Given the description of an element on the screen output the (x, y) to click on. 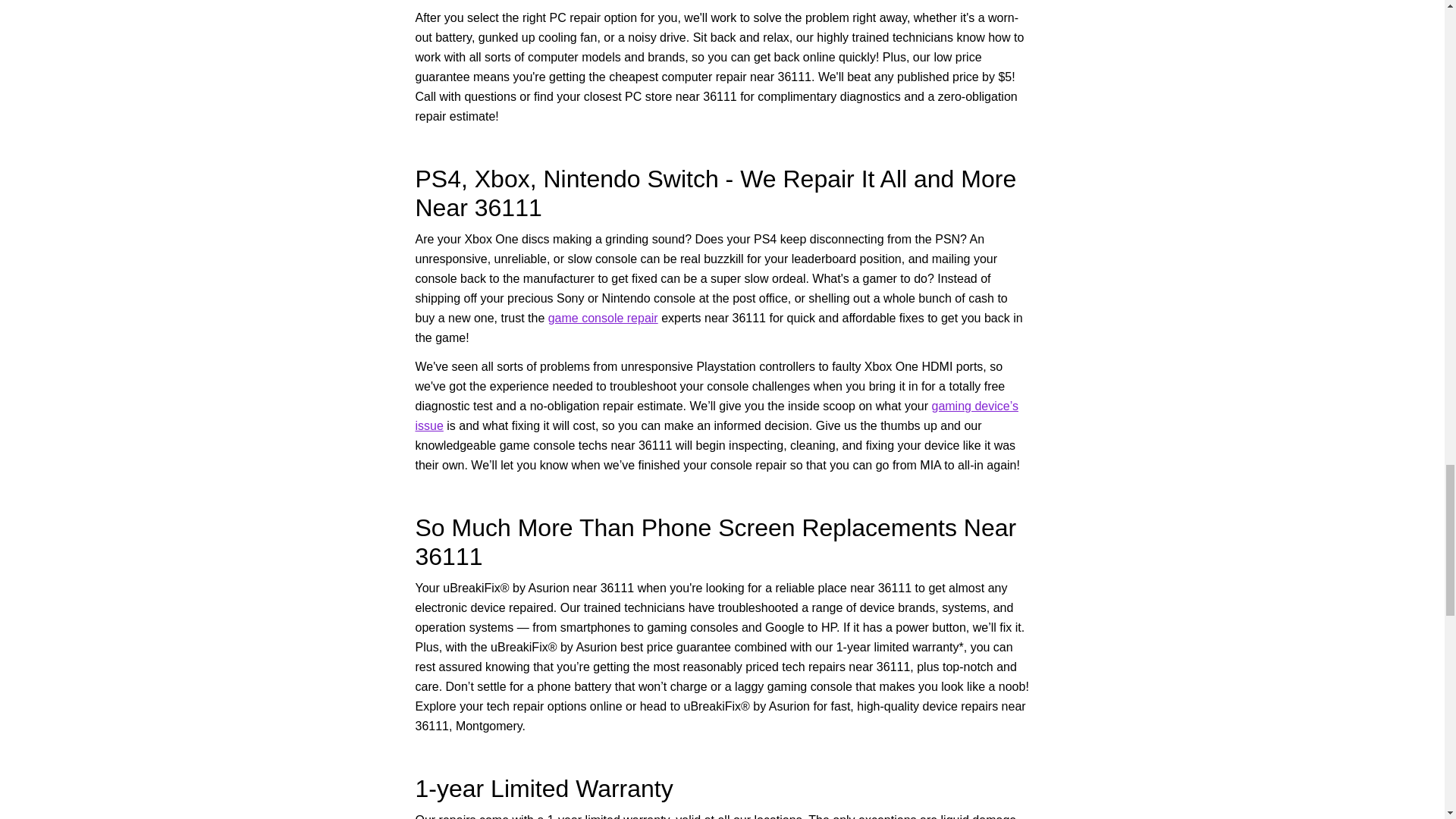
game console repair (603, 318)
